Given the description of an element on the screen output the (x, y) to click on. 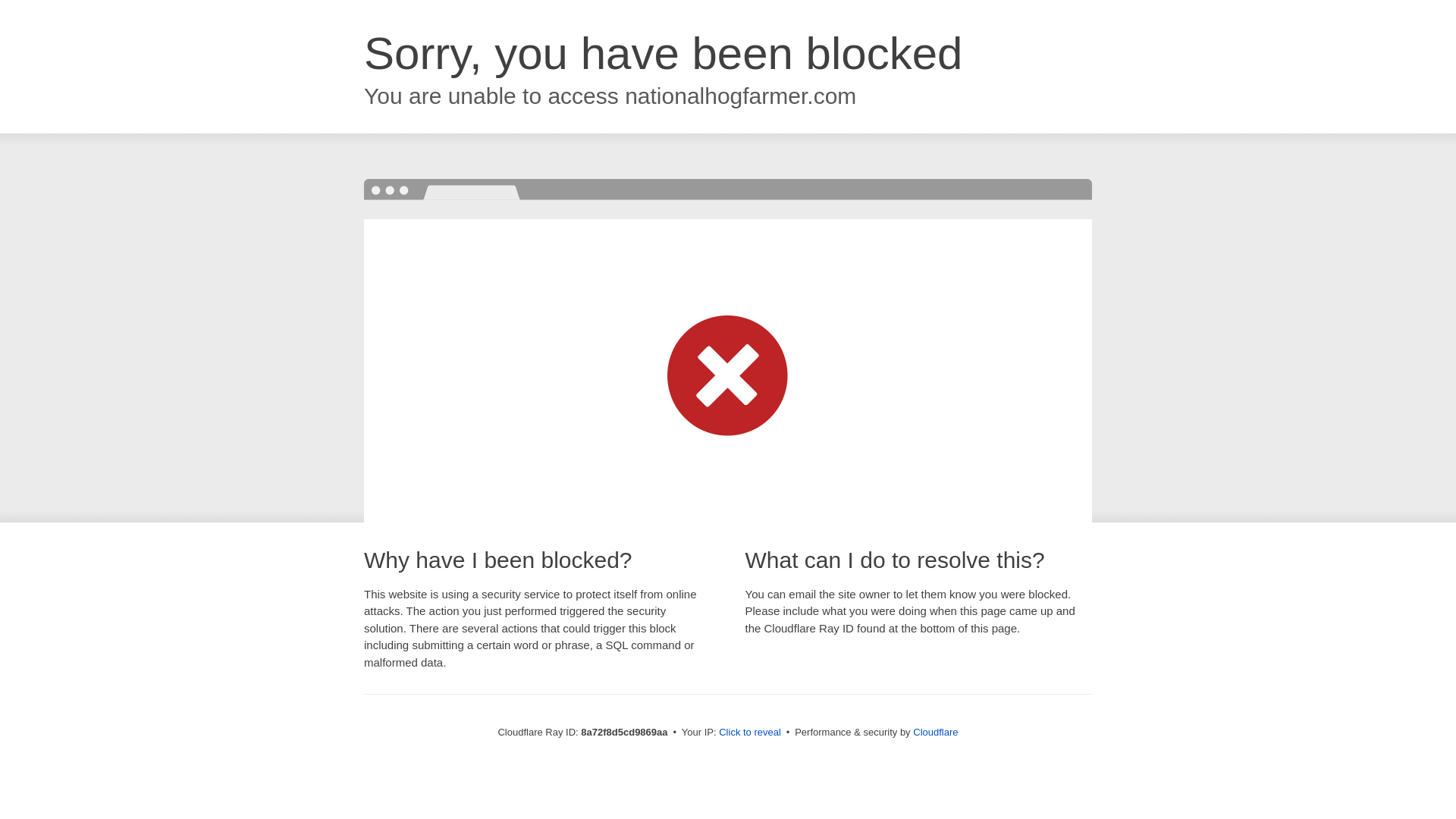
Click to reveal (749, 732)
Cloudflare (935, 731)
